Given the description of an element on the screen output the (x, y) to click on. 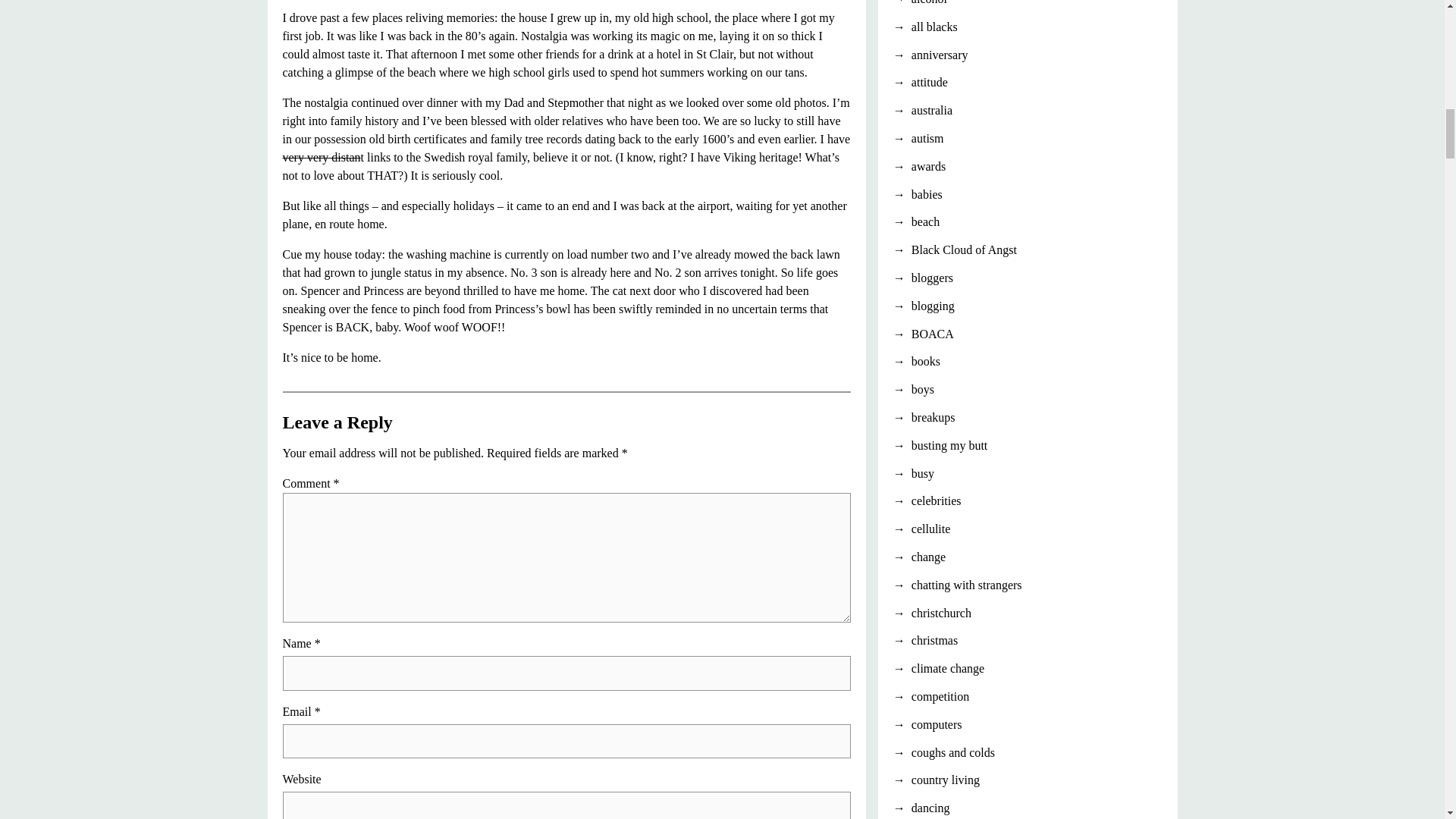
anniversary (1027, 54)
all blacks (1027, 27)
alcohol (1027, 4)
